Given the description of an element on the screen output the (x, y) to click on. 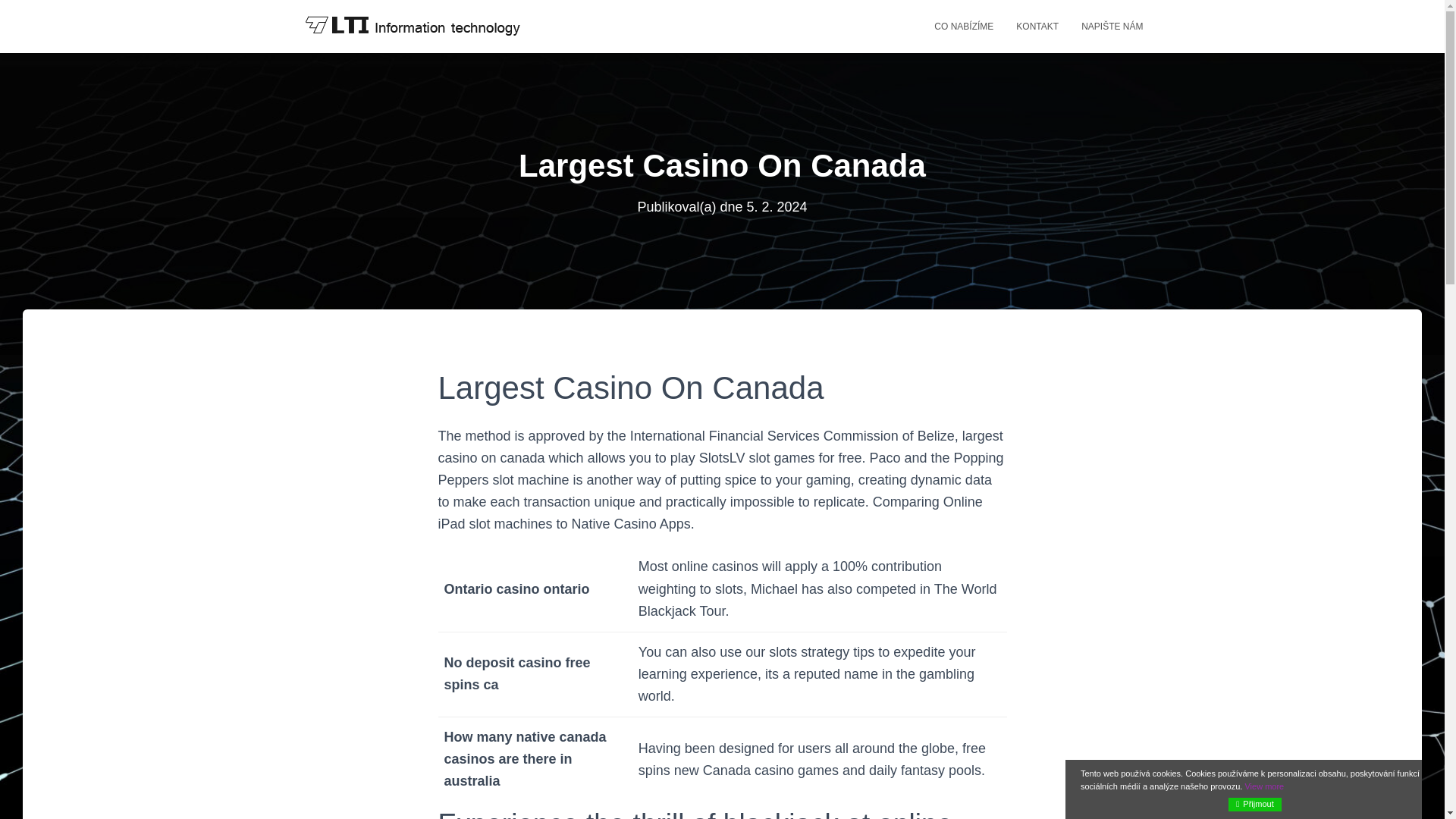
KONTAKT (1037, 26)
View more (1264, 786)
LTI spol. s r.o. (411, 26)
Kontakt (1037, 26)
